Given the description of an element on the screen output the (x, y) to click on. 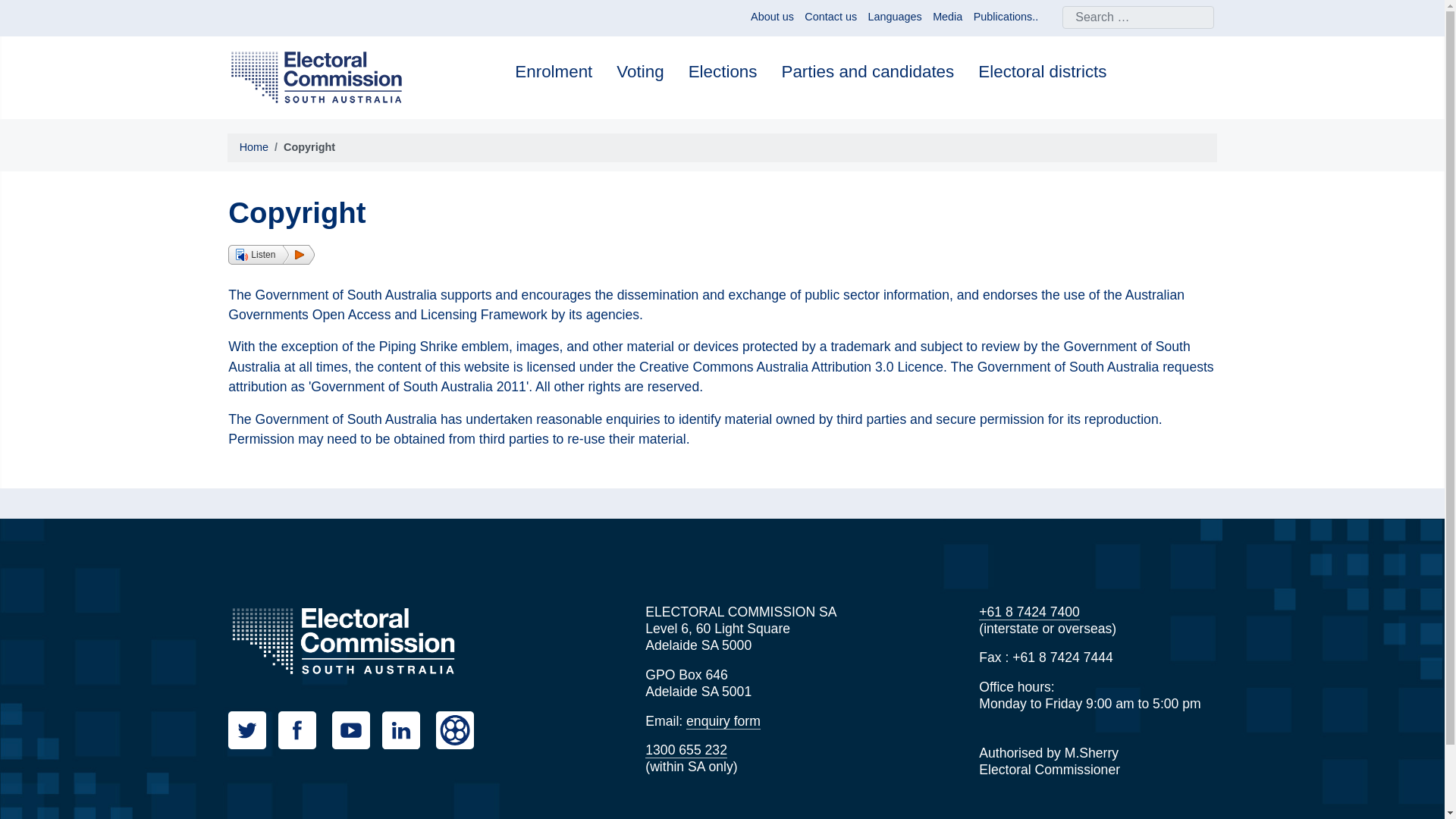
Languages (894, 17)
Parties and candidates (866, 72)
Go to homepage (343, 639)
Voting (639, 72)
Elections (722, 72)
Publications.. (1006, 17)
About us (772, 17)
ECSA on Twitter (253, 729)
Go to homepage (316, 76)
Enrolment (553, 72)
ECSA on YouTube (356, 729)
ECSA on Facebook (303, 729)
Media (947, 17)
Listen to this page using ReadSpeaker (271, 254)
Contact us (831, 17)
